Given the description of an element on the screen output the (x, y) to click on. 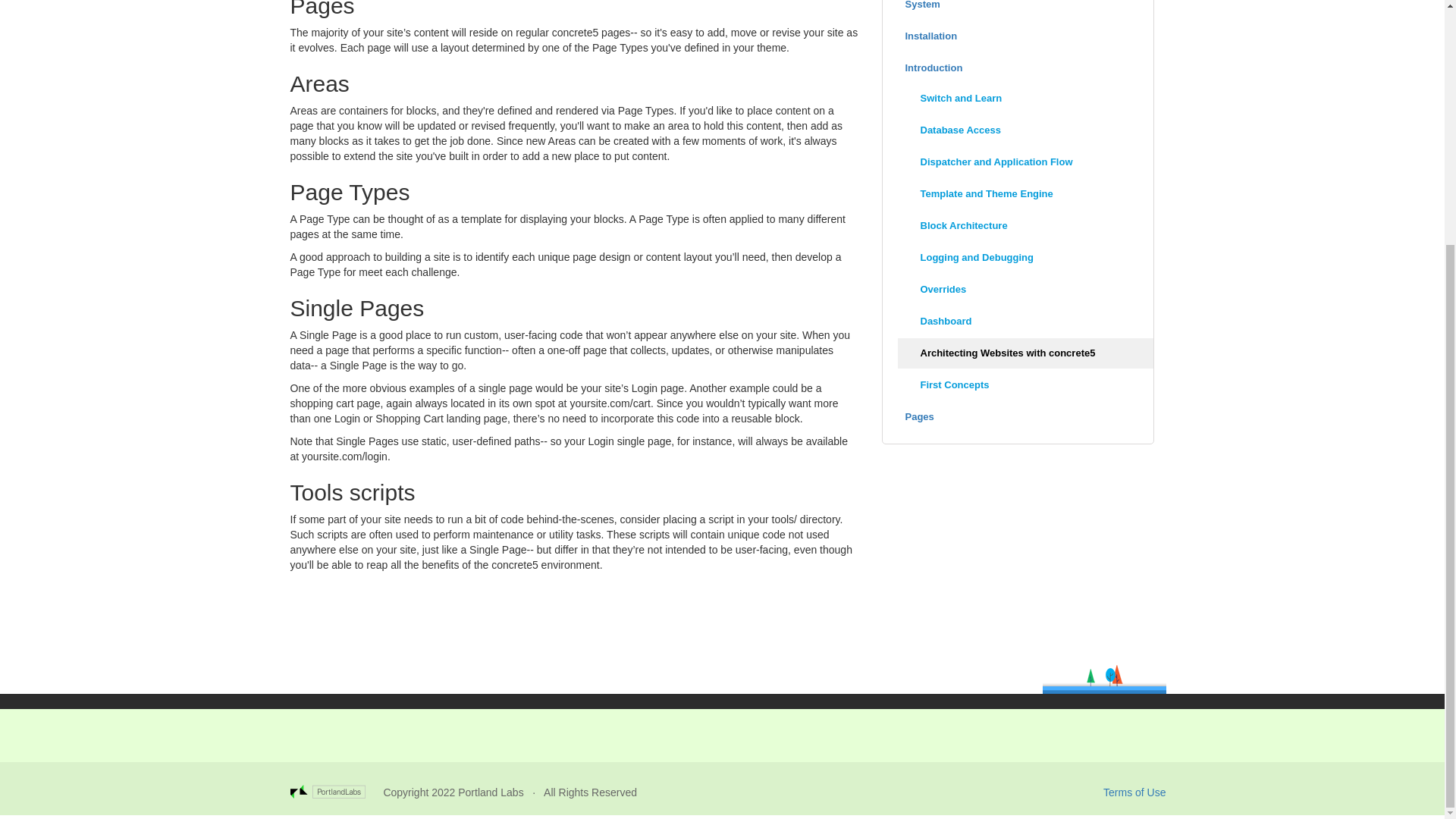
Template and Theme Engine (1026, 194)
Overrides (1026, 289)
Database Access (1026, 130)
Terms of Use (1134, 791)
PORTLAND LABS (335, 792)
Portland Labs (490, 792)
First Concepts (1026, 385)
Introduction (1018, 68)
Dashboard (1026, 321)
Architecting Websites with concrete5 (1026, 353)
Installation (1018, 36)
Logging and Debugging (1026, 257)
Block Architecture (1026, 225)
System (1018, 9)
concrete5.org Terms of Use (1134, 791)
